Given the description of an element on the screen output the (x, y) to click on. 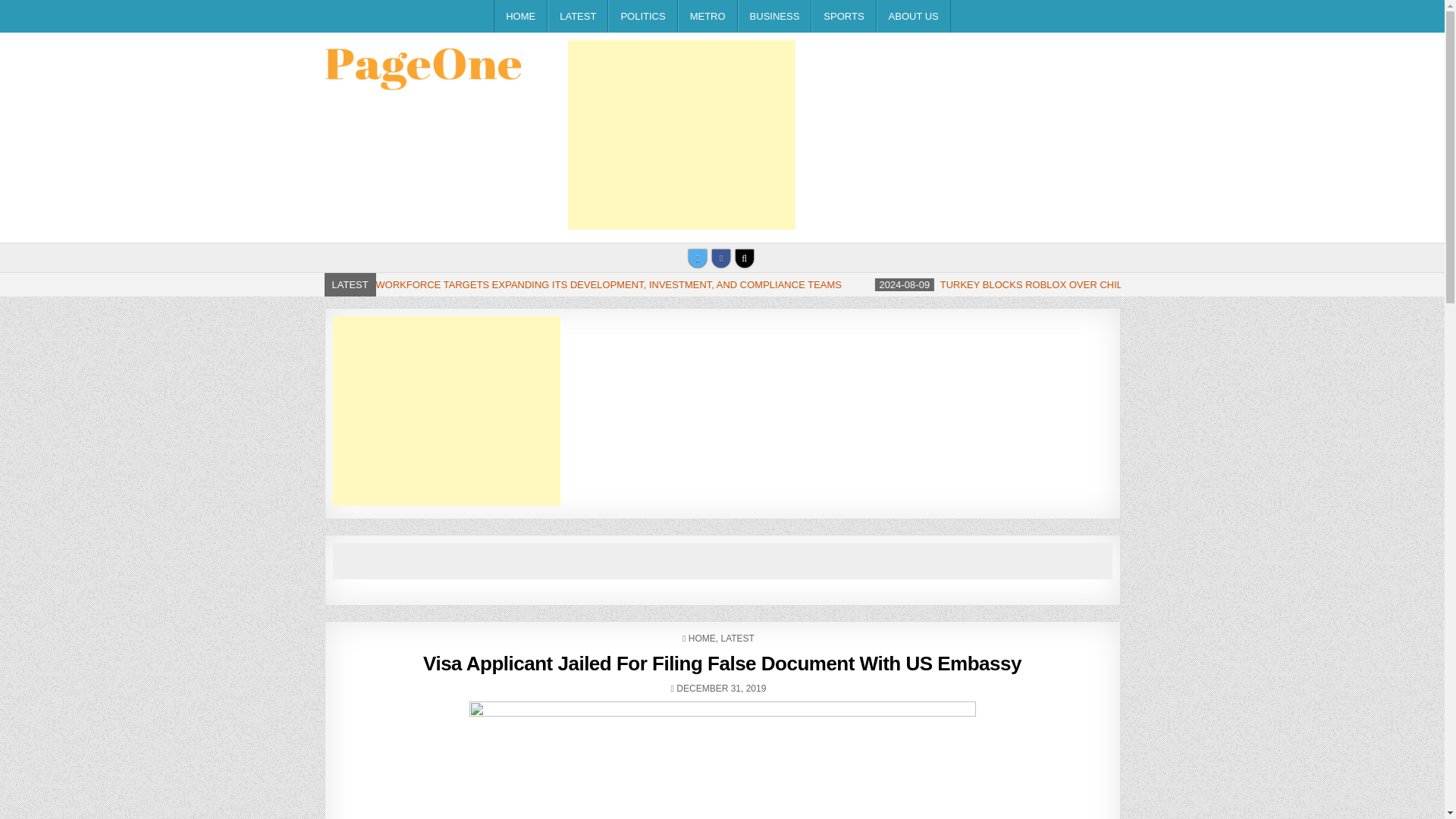
BUSINESS (775, 16)
POLITICS (642, 16)
SPORTS (843, 16)
HOME (702, 638)
HOME (520, 16)
LATEST (577, 16)
LATEST (737, 638)
